Given the description of an element on the screen output the (x, y) to click on. 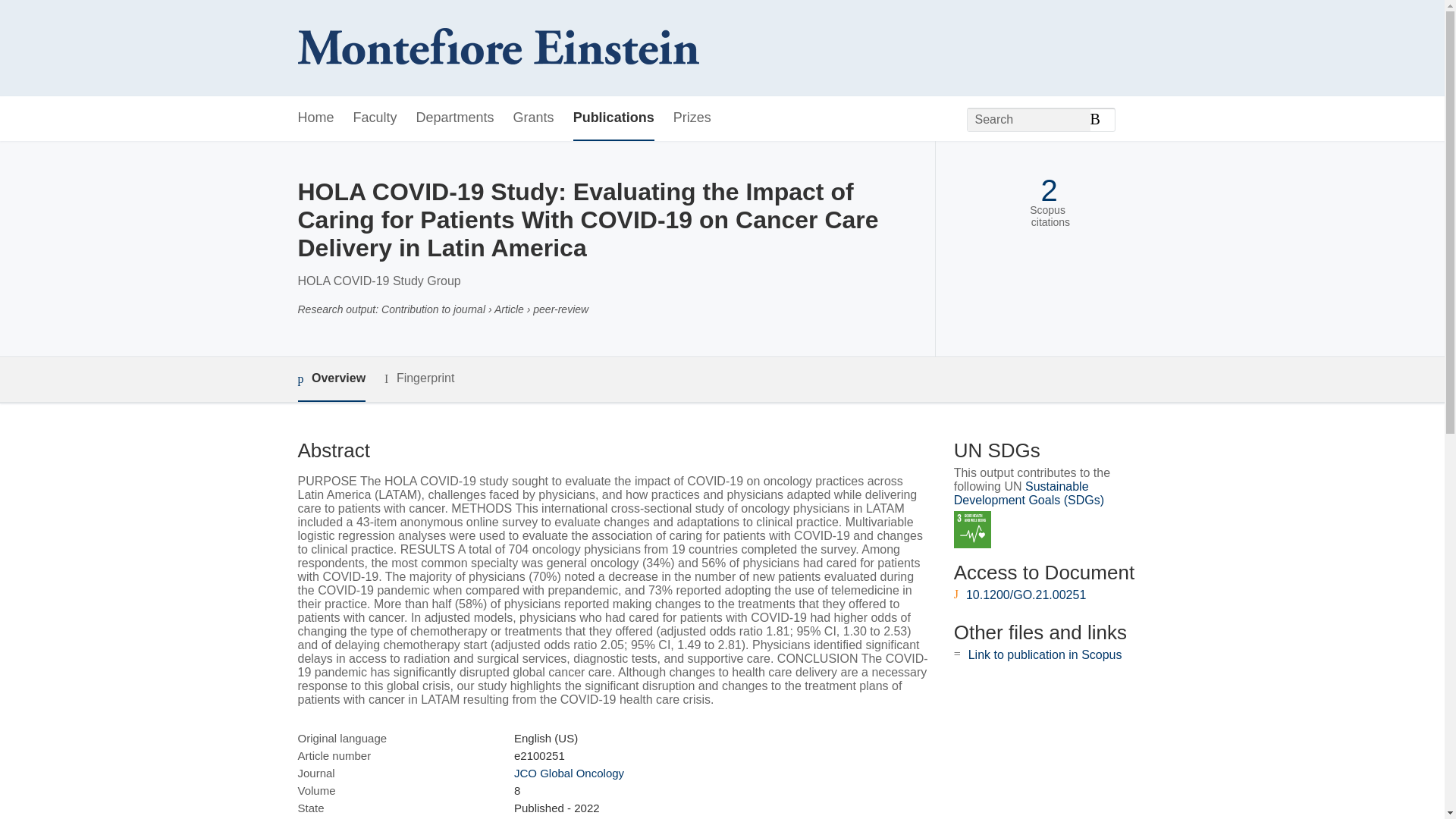
Overview (331, 379)
Grants (533, 118)
Faculty (375, 118)
Link to publication in Scopus (1045, 654)
JCO Global Oncology (568, 772)
SDG 3 - Good Health and Well-being (972, 529)
Publications (613, 118)
Fingerprint (419, 378)
Albert Einstein College of Medicine Home (497, 48)
